Given the description of an element on the screen output the (x, y) to click on. 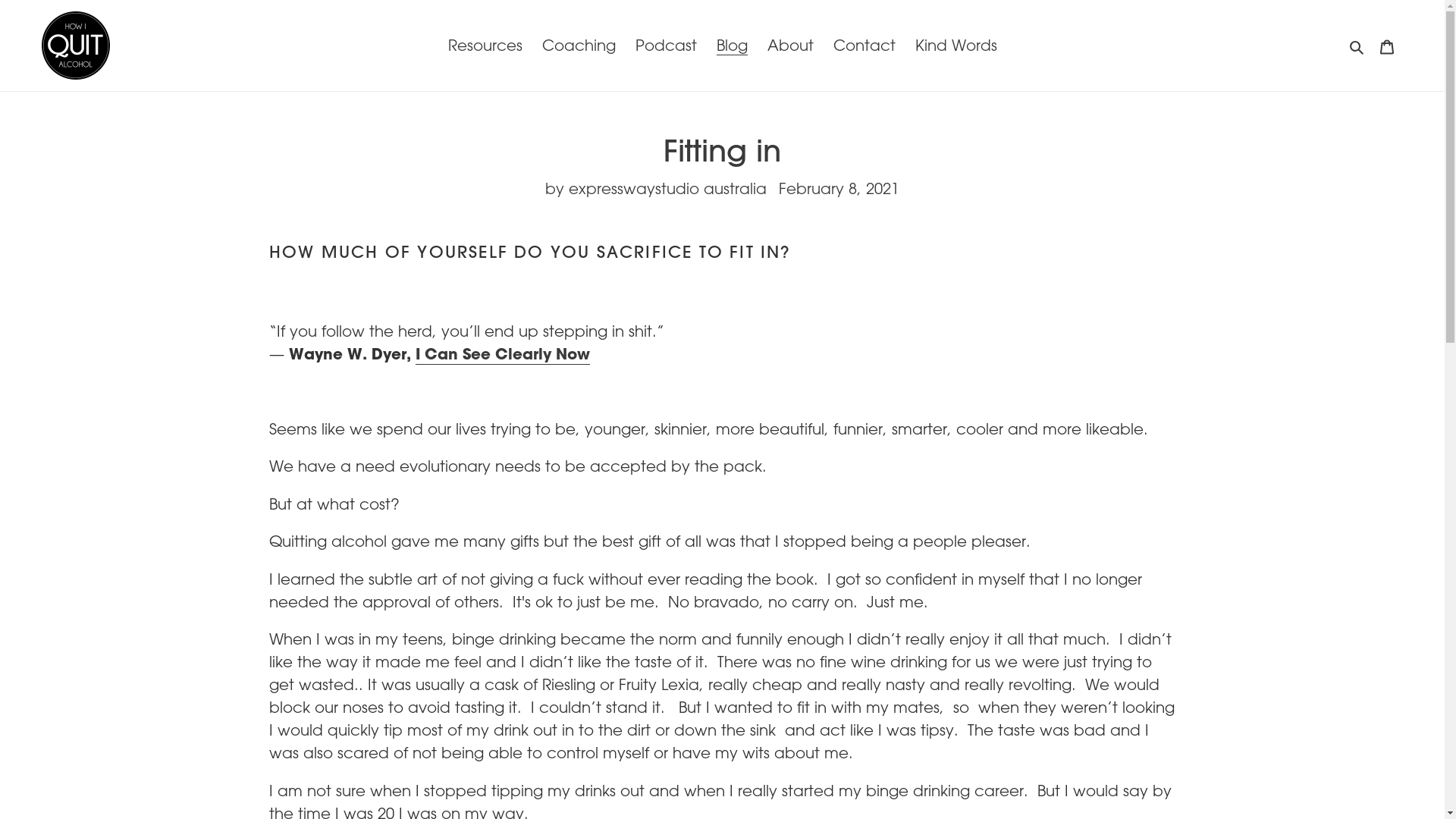
Cart Element type: text (1386, 45)
Search Element type: text (1357, 45)
Coaching Element type: text (577, 45)
Kind Words Element type: text (955, 45)
Resources Element type: text (484, 45)
I Can See Clearly Now Element type: text (502, 354)
Contact Element type: text (863, 45)
Blog Element type: text (731, 45)
About Element type: text (790, 45)
Podcast Element type: text (665, 45)
